Given the description of an element on the screen output the (x, y) to click on. 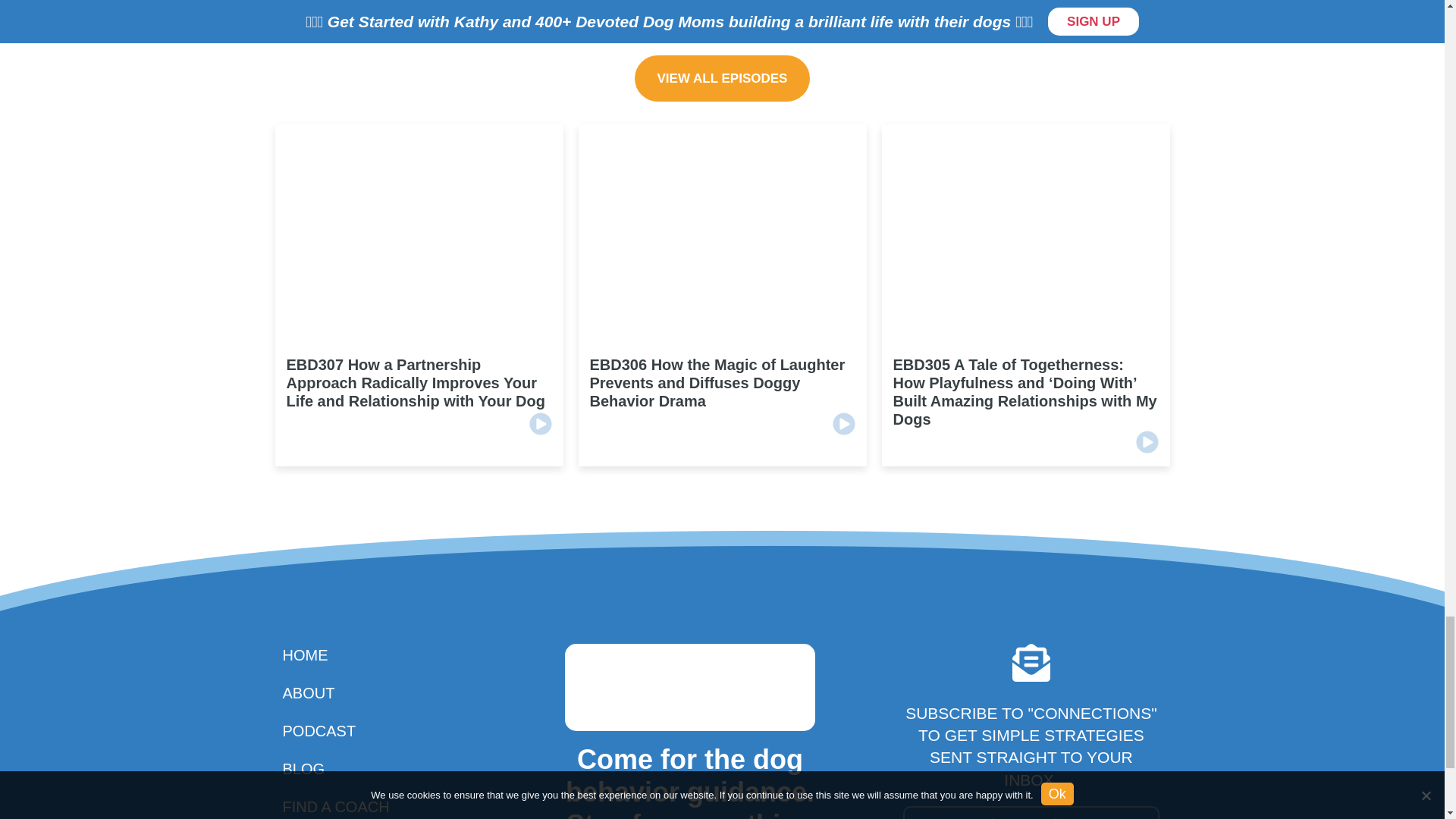
PODCAST (352, 730)
HOME (352, 654)
VIEW ALL EPISODES (722, 78)
BLOG (352, 768)
ABOUT (352, 692)
FIND A COACH (352, 806)
